Given the description of an element on the screen output the (x, y) to click on. 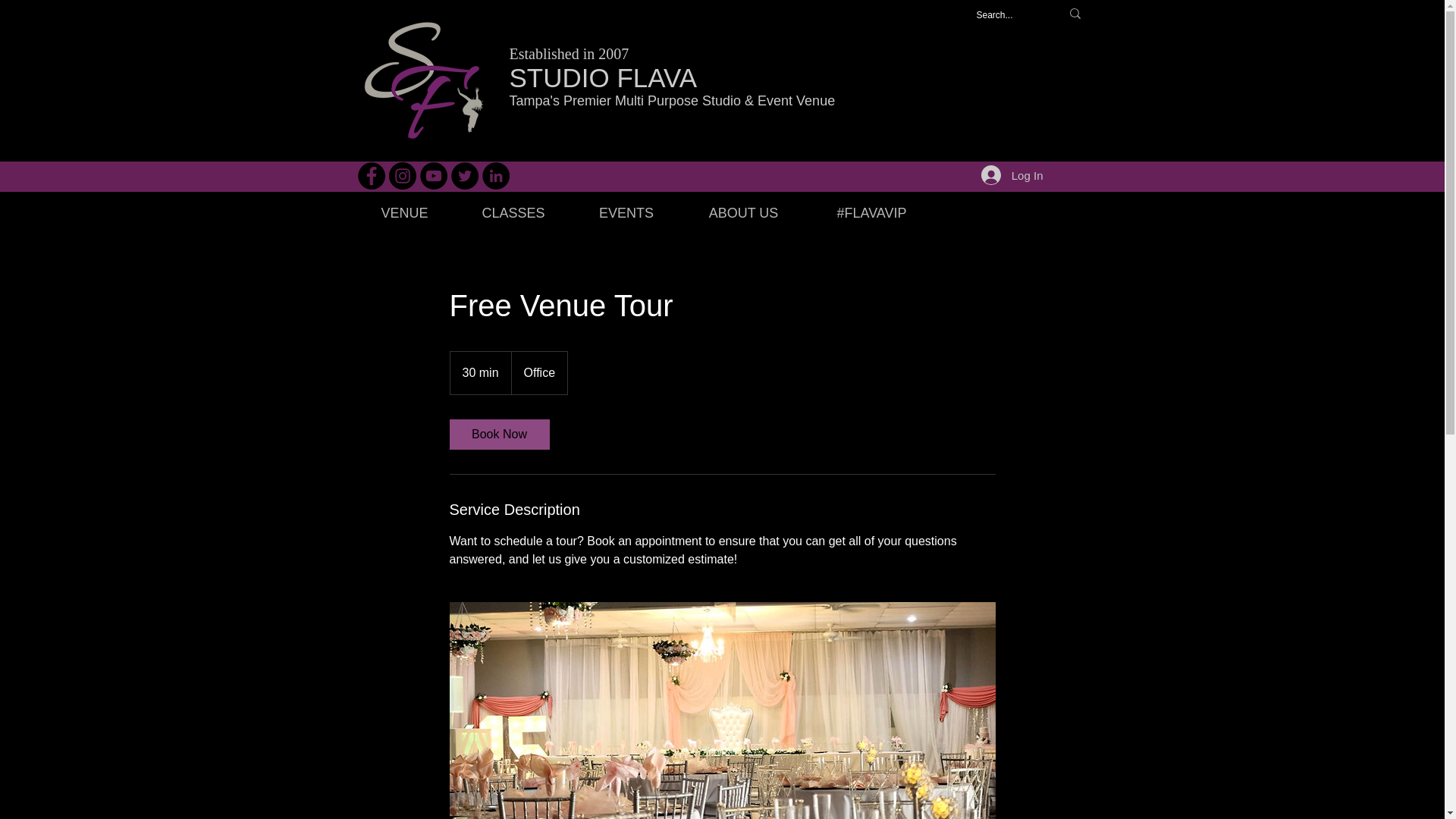
FlavaLogoPurpleBlackOutline2.png (422, 80)
Log In (1012, 174)
